Given the description of an element on the screen output the (x, y) to click on. 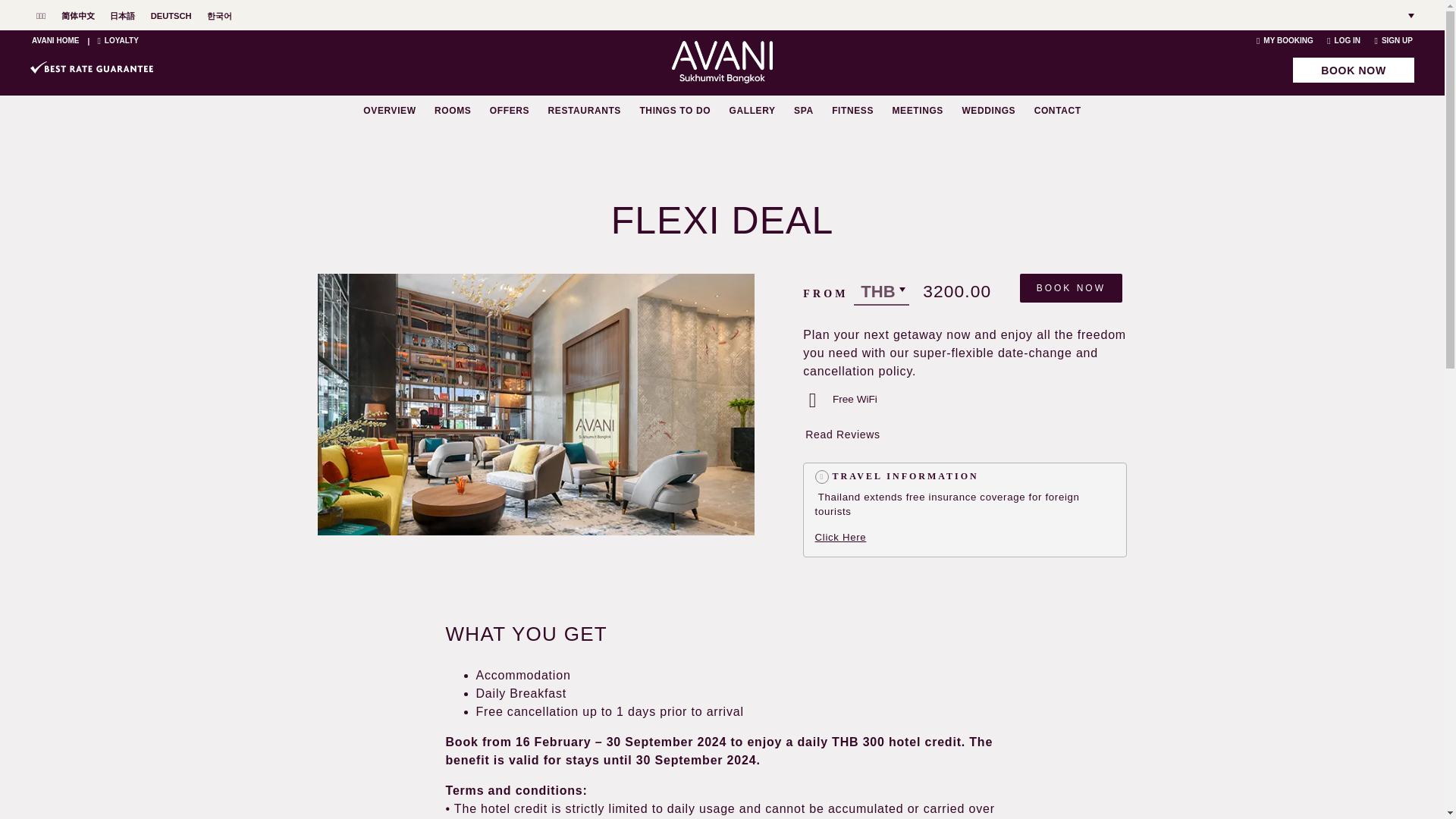
OVERVIEW (388, 110)
BOOK NOW (1352, 69)
LOYALTY (117, 40)
SIGN UP (1393, 40)
DEUTSCH (170, 16)
LOG IN (1342, 40)
MY BOOKING (1284, 40)
VIEW RATES (1176, 166)
BEST RATE GUARANTEE (91, 66)
